Given the description of an element on the screen output the (x, y) to click on. 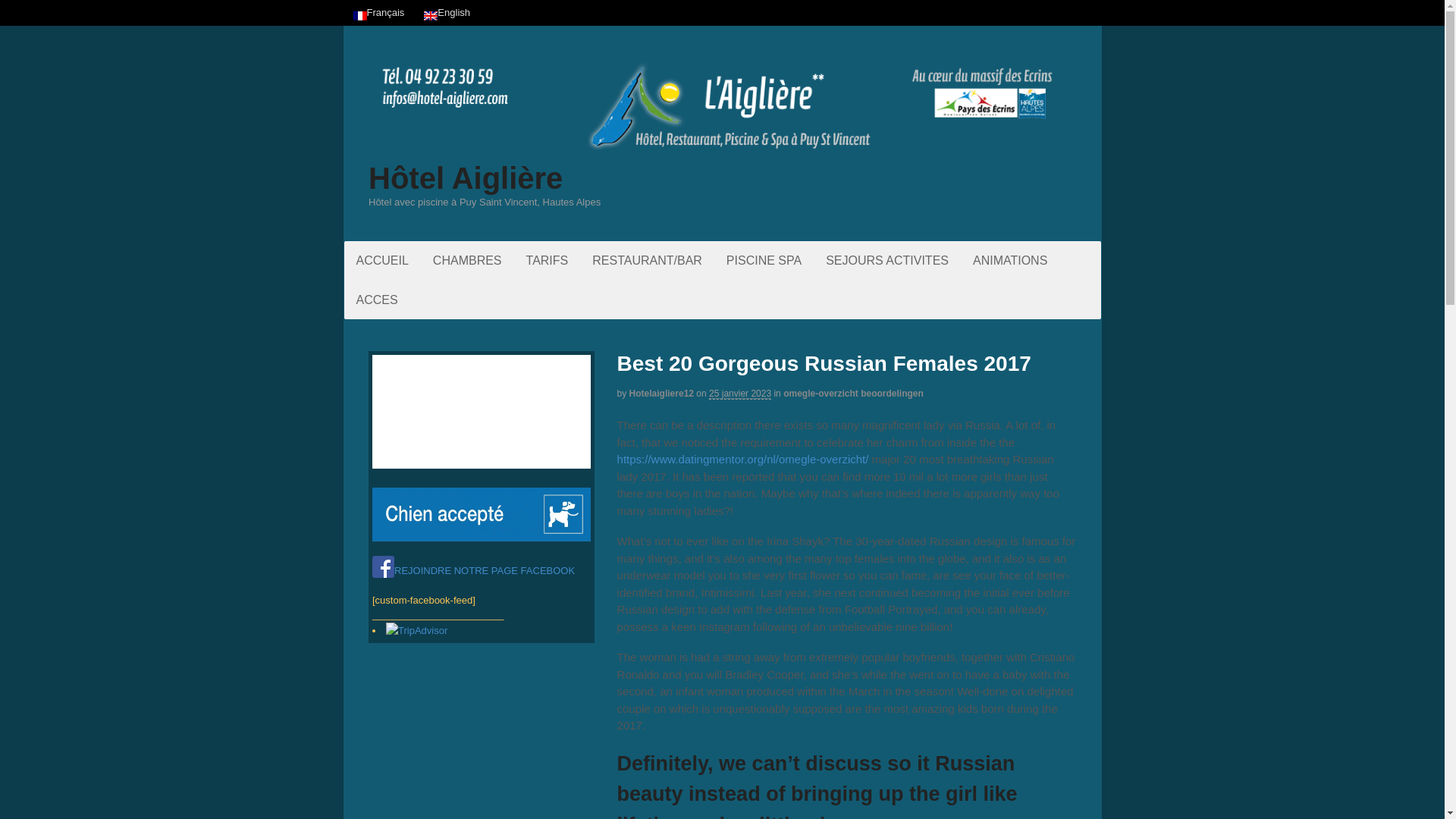
English (430, 15)
English (446, 12)
Hotelaigliere12 (661, 393)
PISCINE SPA (763, 260)
TARIFS (546, 260)
ACCES (376, 299)
English (446, 12)
REJOINDRE NOTRE PAGE FACEBOOK (473, 570)
View all items in omegle-overzicht beoordelingen (853, 393)
ANIMATIONS (1009, 260)
